Given the description of an element on the screen output the (x, y) to click on. 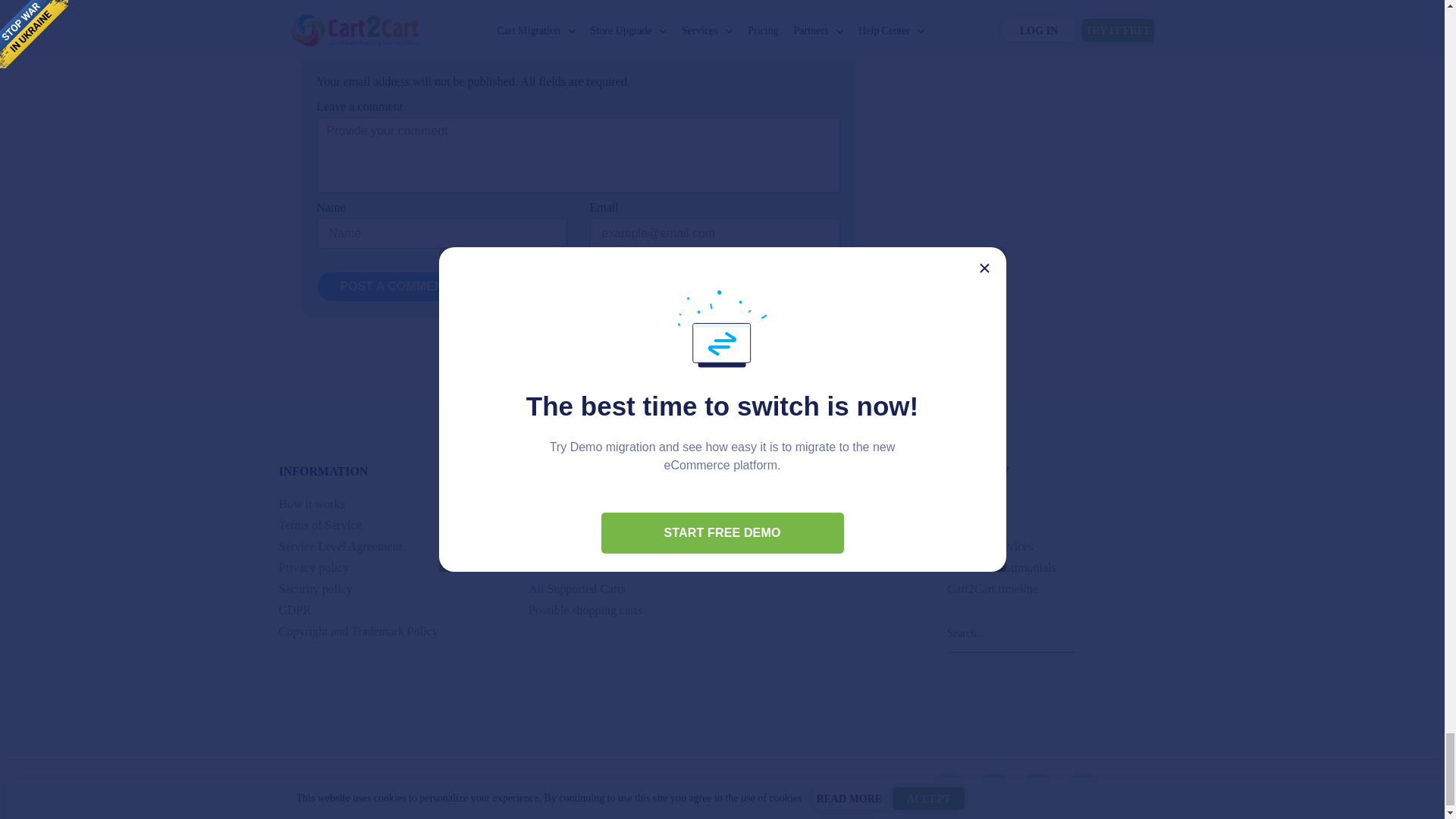
Post a Commentary (407, 286)
